Given the description of an element on the screen output the (x, y) to click on. 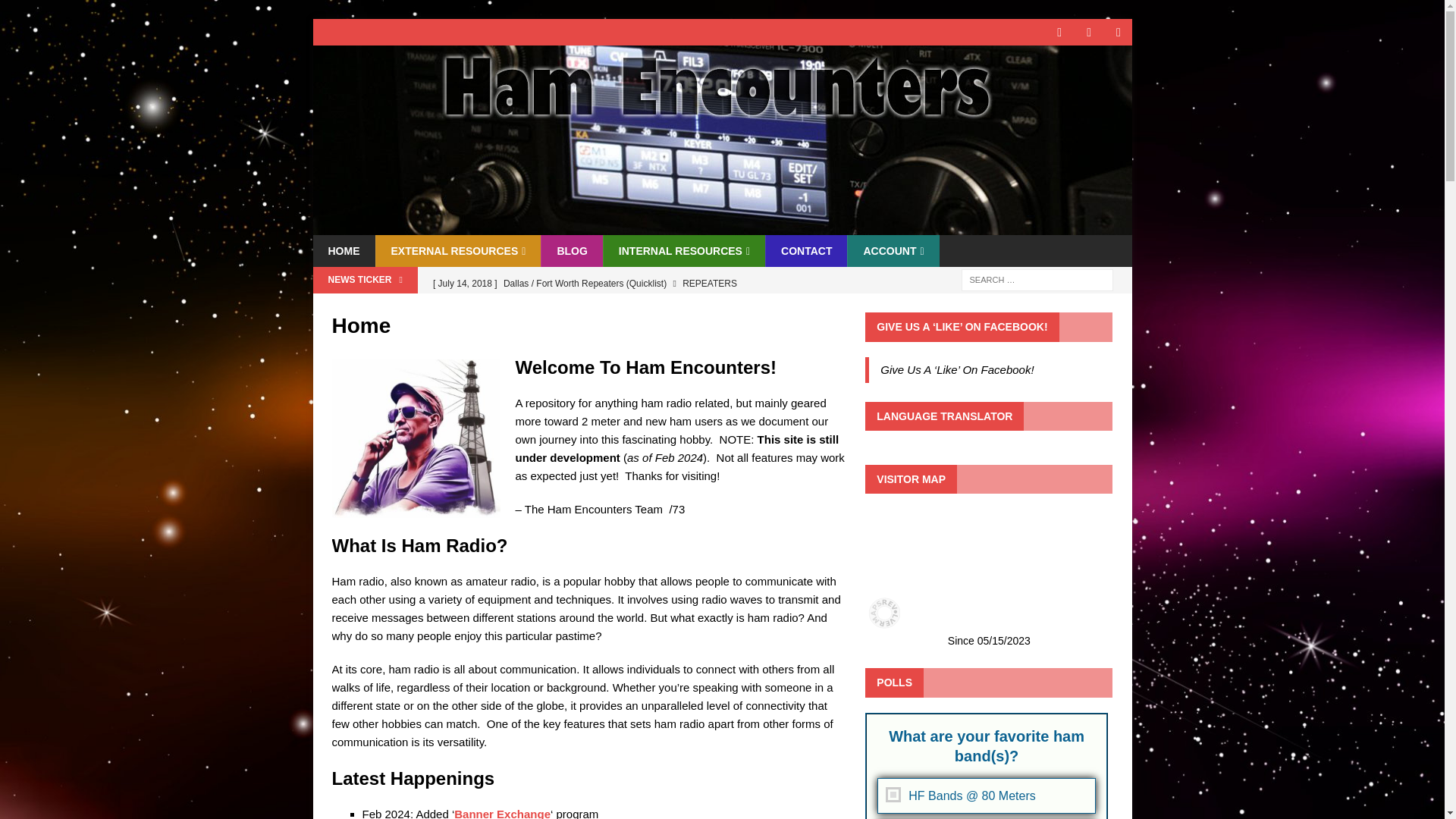
INTERNAL RESOURCES (683, 250)
Ham Encounters (722, 226)
EXTERNAL RESOURCES (457, 250)
HOME (343, 250)
BLOG (571, 250)
